Given the description of an element on the screen output the (x, y) to click on. 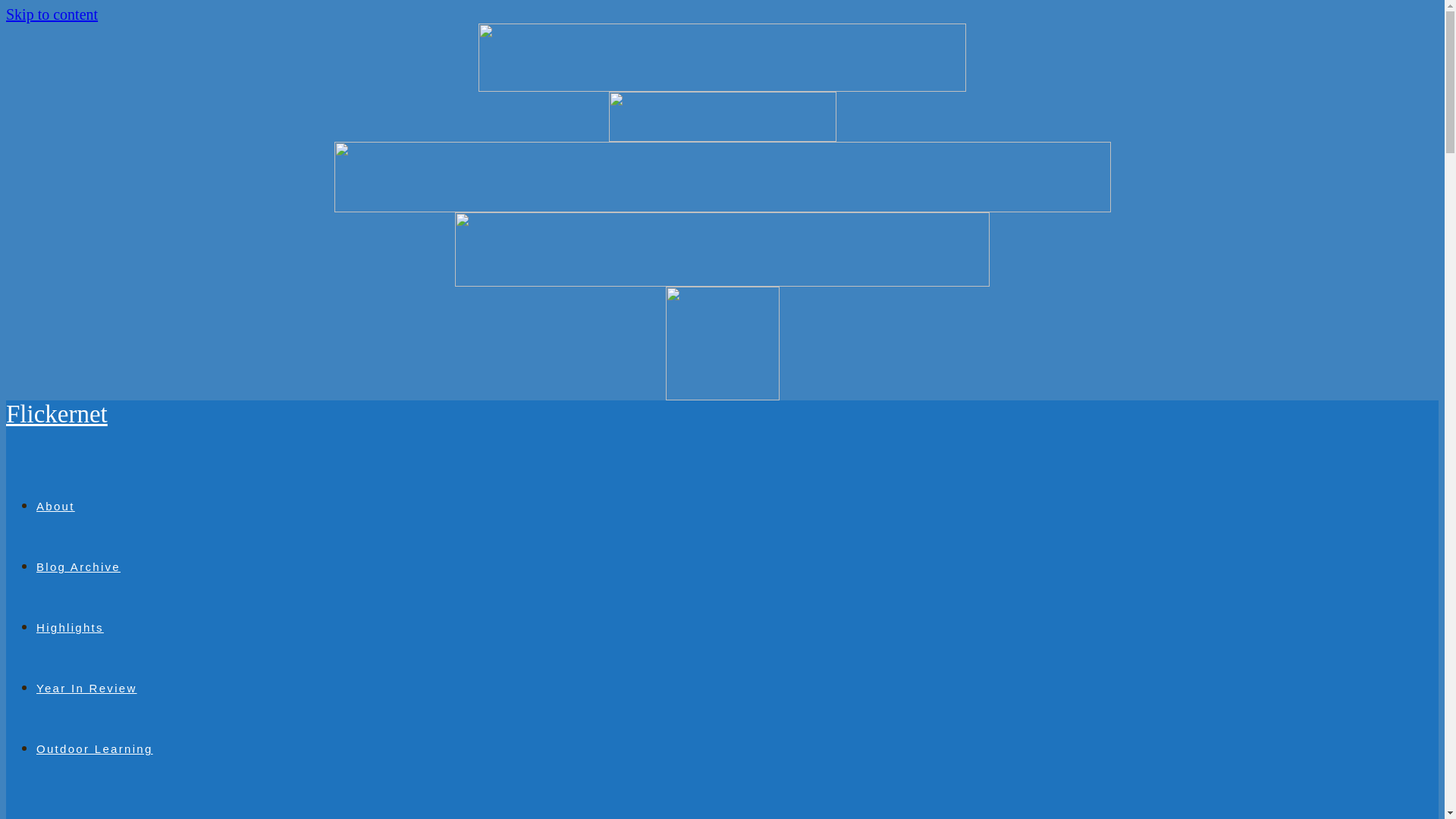
Highlights (69, 626)
About (55, 505)
Skip to content (51, 13)
Outdoor Learning (94, 748)
Year In Review (86, 687)
Flickernet (56, 413)
Blog Archive (78, 566)
